Given the description of an element on the screen output the (x, y) to click on. 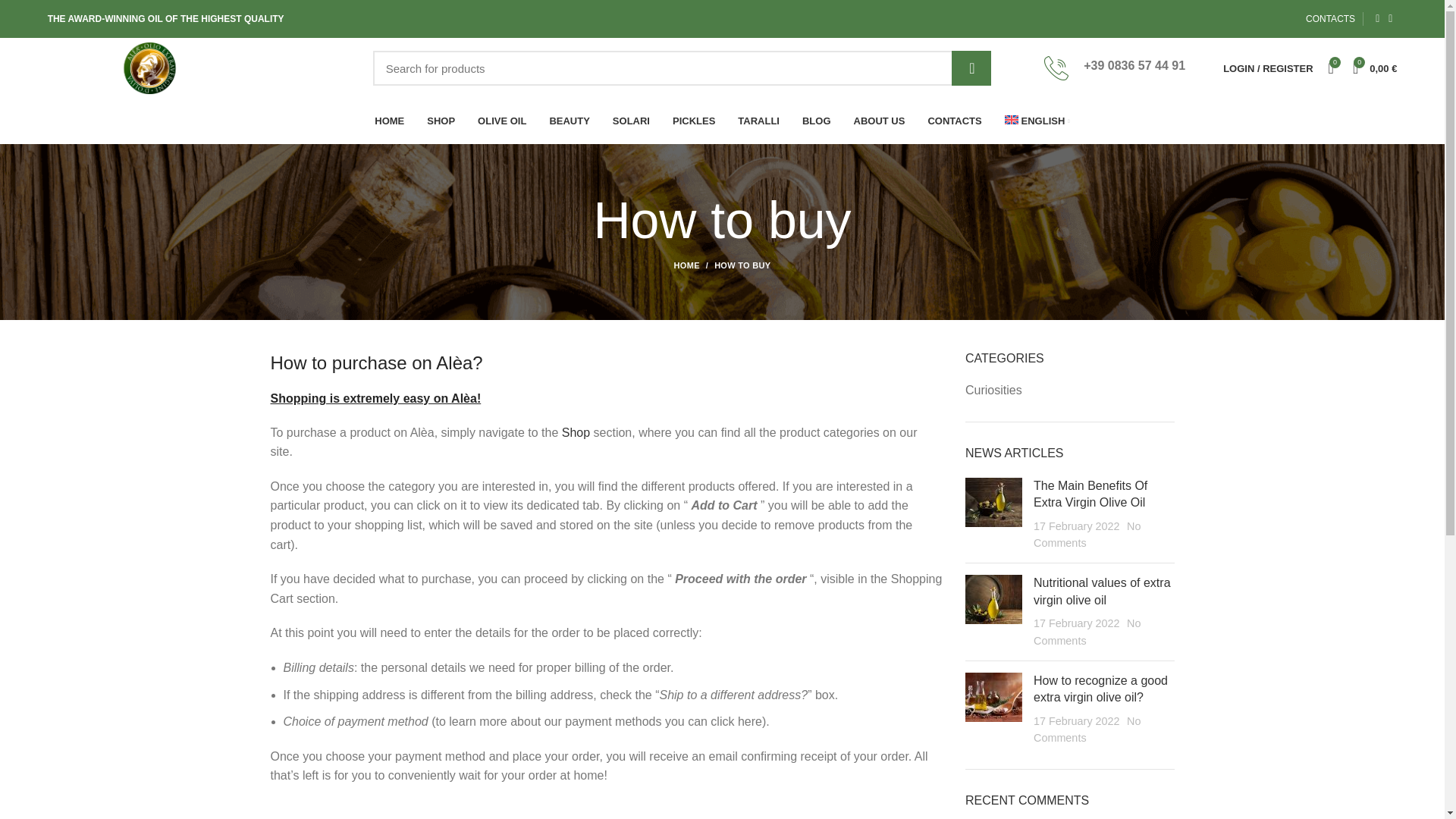
OLIVE OIL (501, 121)
CONTACTS (1330, 19)
Permalink to Nutritional values of extra virgin olive oil (1101, 591)
My account (1267, 68)
ABOUT US (880, 121)
How to recognize a good extra virgin olive oil? (1100, 688)
HOME (694, 265)
PICKLES (693, 121)
Permalink to The Main Benefits Of Extra Virgin Olive Oil (1090, 493)
SOLARI (631, 121)
